Given the description of an element on the screen output the (x, y) to click on. 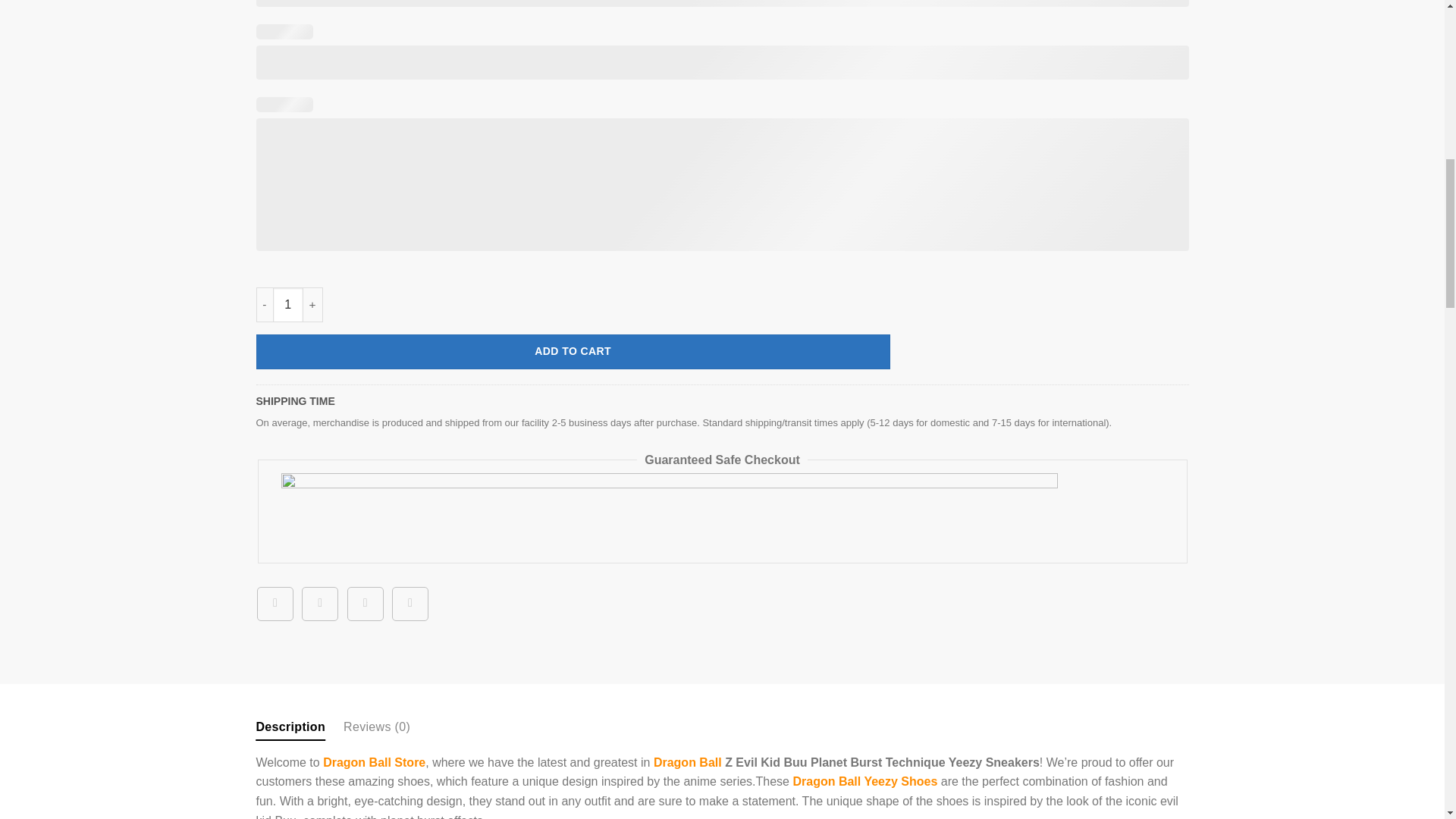
Pin on Pinterest (409, 603)
Email to a Friend (365, 603)
Share on Twitter (319, 603)
Share on Facebook (275, 603)
